Given the description of an element on the screen output the (x, y) to click on. 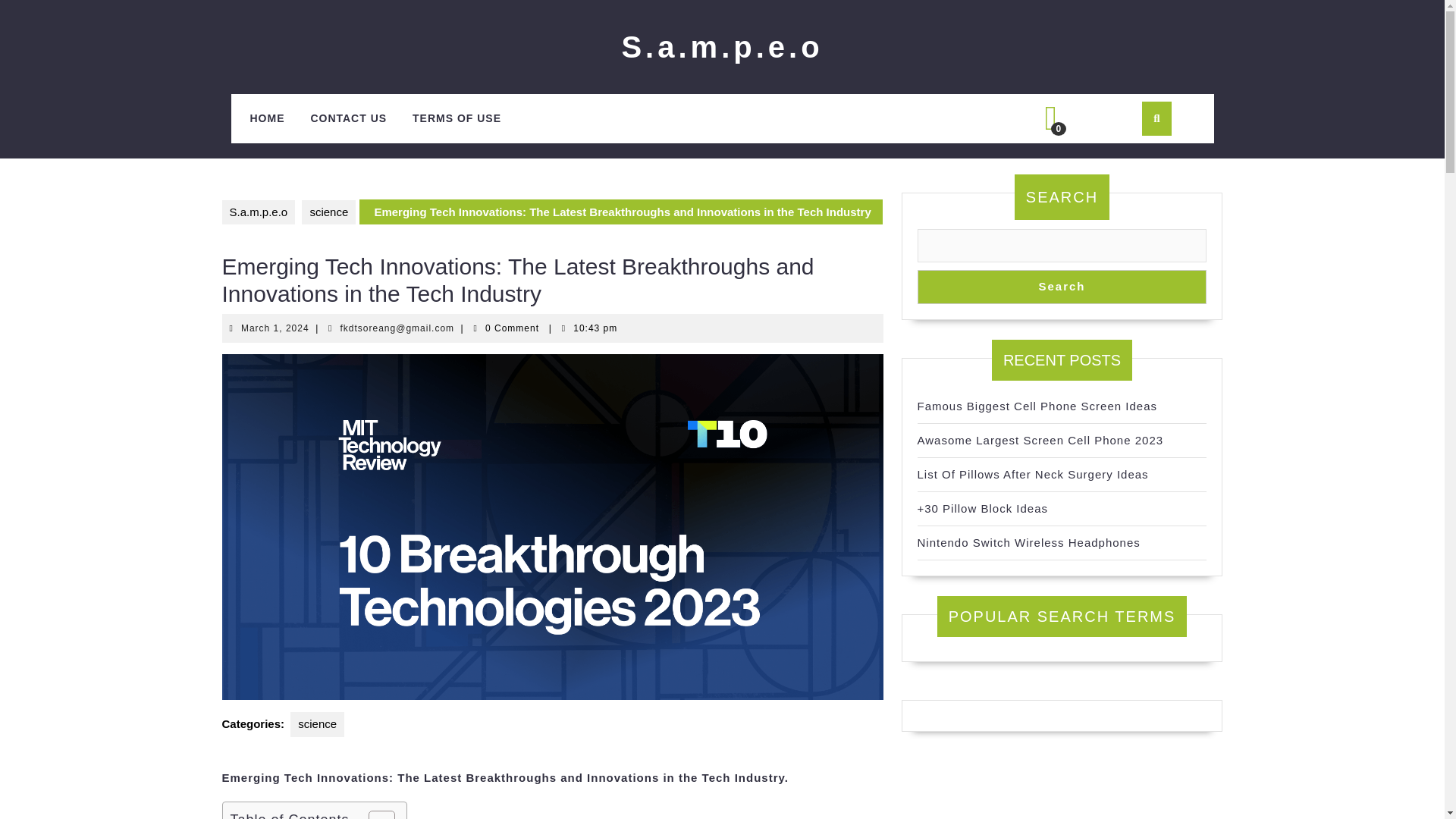
List Of Pillows After Neck Surgery Ideas (1032, 473)
S.a.m.p.e.o (721, 46)
science (316, 724)
Search (1062, 286)
Awasome Largest Screen Cell Phone 2023 (274, 327)
Nintendo Switch Wireless Headphones (1040, 440)
S.a.m.p.e.o (1028, 542)
TERMS OF USE (258, 212)
